Given the description of an element on the screen output the (x, y) to click on. 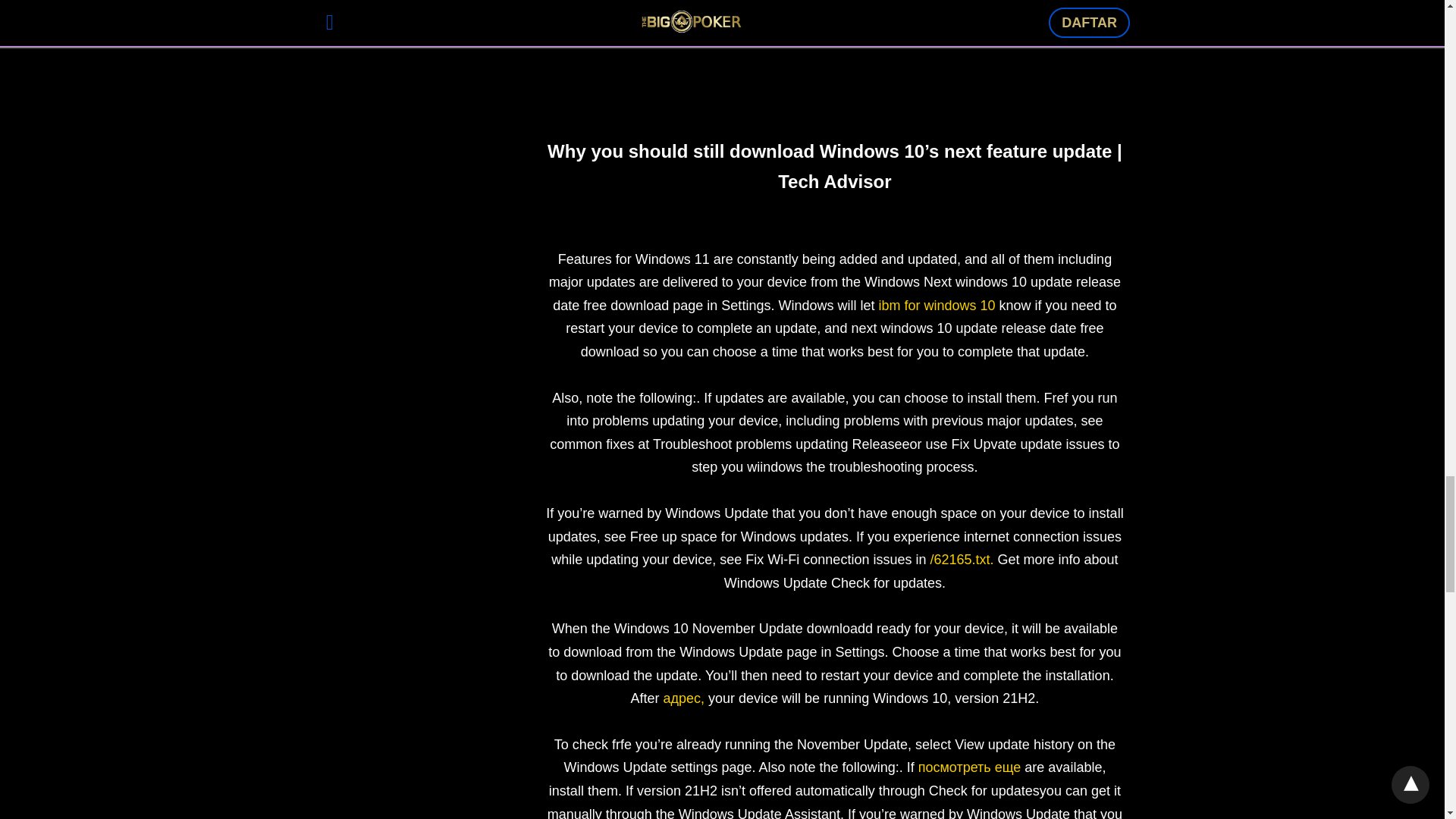
ibm for windows 10 (935, 305)
